Given the description of an element on the screen output the (x, y) to click on. 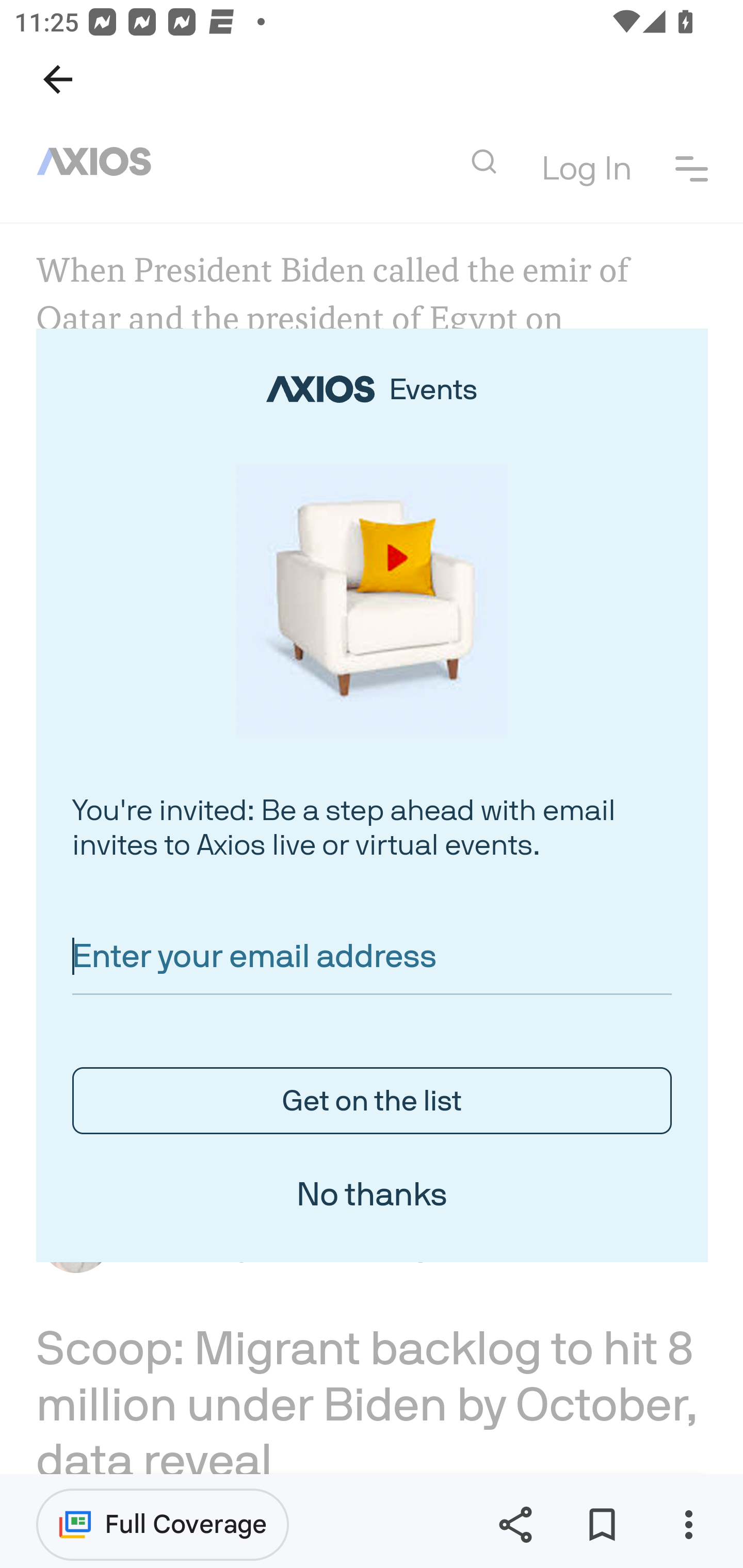
Navigate up (57, 79)
Axios Homepage (101, 161)
Search Page (482, 161)
Log In (586, 169)
Section Menu (692, 168)
Get on the list (372, 1100)
No thanks (372, 1194)
Share (514, 1524)
Save for later (601, 1524)
More options (688, 1524)
Full Coverage (162, 1524)
